Given the description of an element on the screen output the (x, y) to click on. 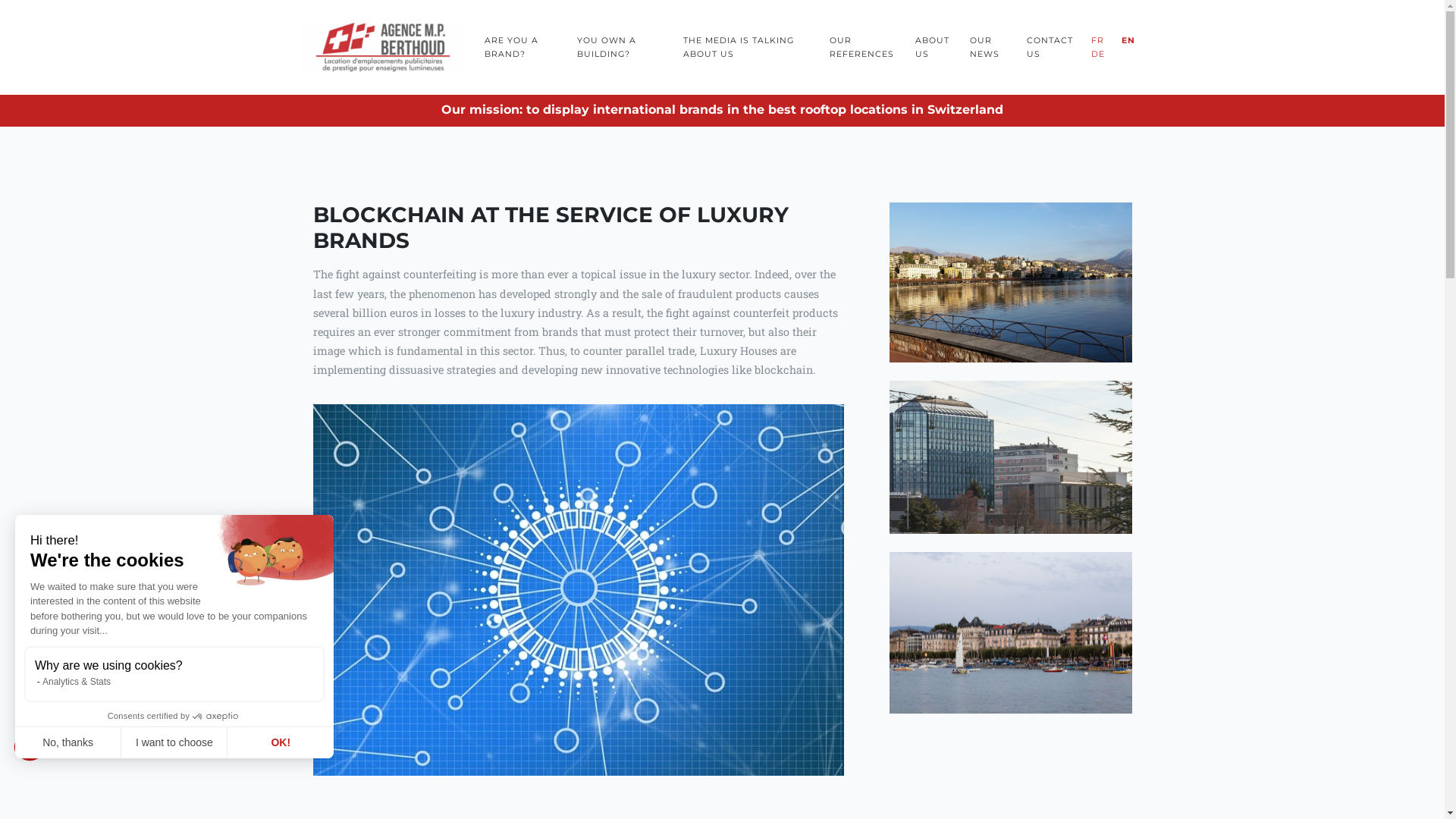
ARE YOU A BRAND? Element type: text (522, 47)
YOU OWN A BUILDING? Element type: text (621, 47)
EN Element type: text (1128, 40)
OUR NEWS Element type: text (990, 47)
FR Element type: text (1097, 36)
DE Element type: text (1097, 53)
CONTACT US Element type: text (1051, 47)
ABOUT US Element type: text (933, 47)
THE MEDIA IS TALKING ABOUT US Element type: text (747, 47)
OUR REFERENCES Element type: text (863, 47)
